Given the description of an element on the screen output the (x, y) to click on. 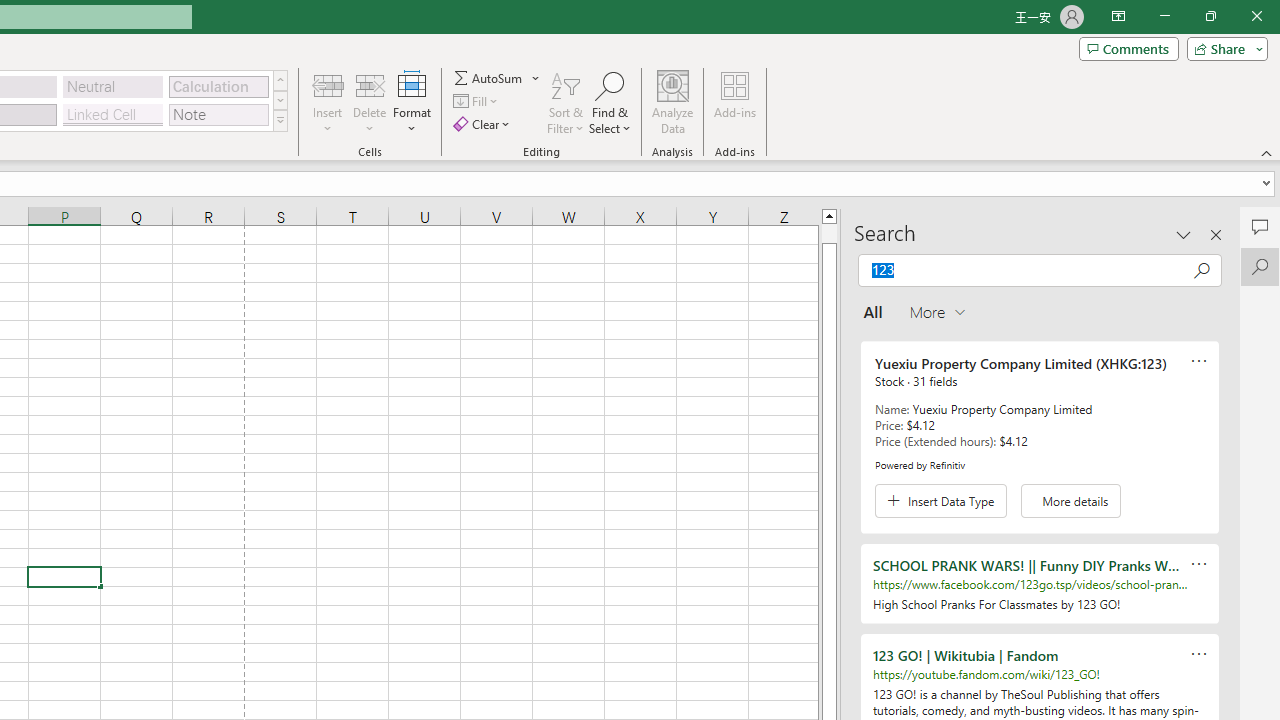
Delete Cells... (369, 84)
Find & Select (610, 102)
AutoSum (497, 78)
